Given the description of an element on the screen output the (x, y) to click on. 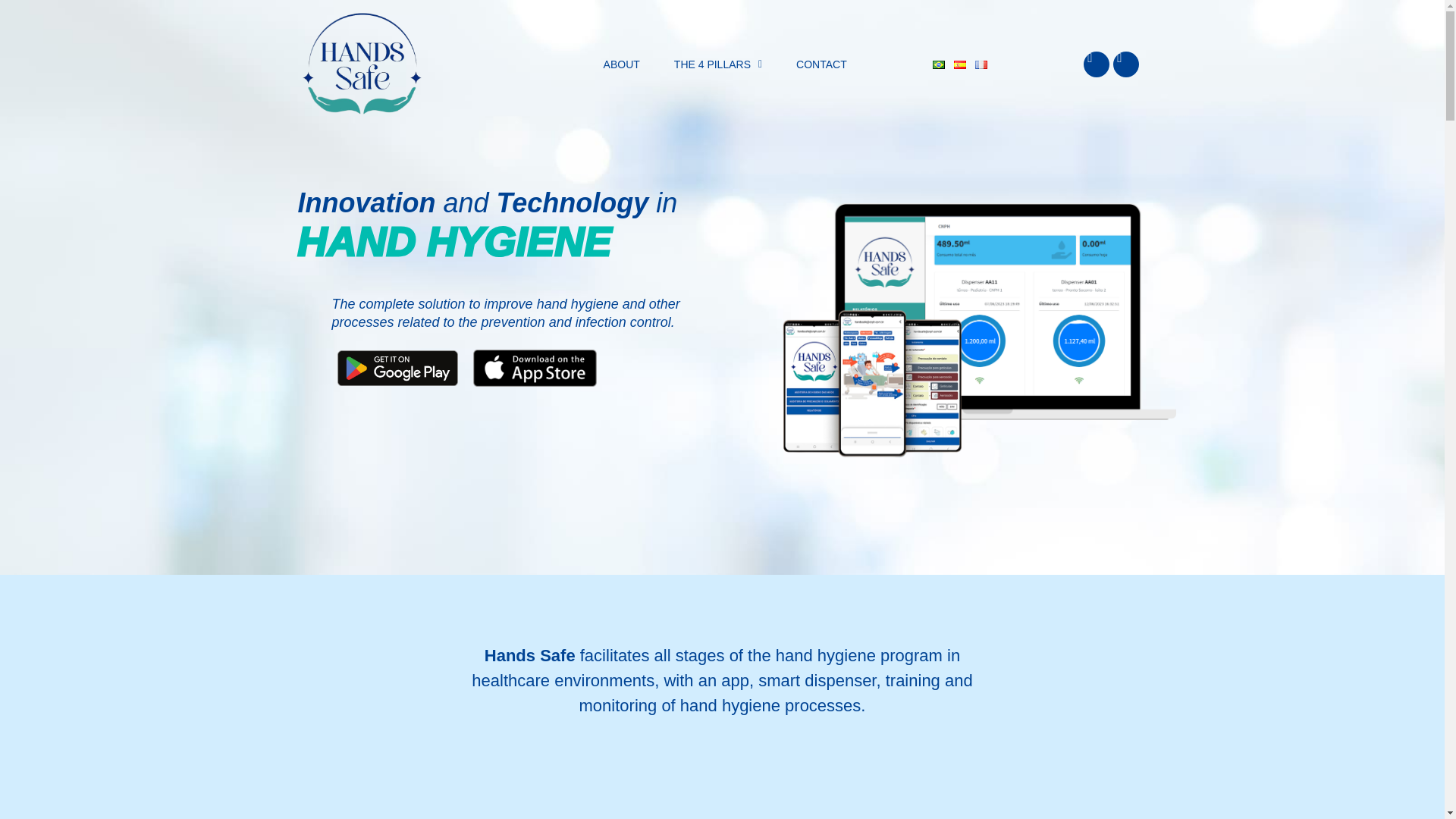
CONTACT (820, 63)
THE 4 PILLARS (718, 63)
ABOUT (621, 63)
